Given the description of an element on the screen output the (x, y) to click on. 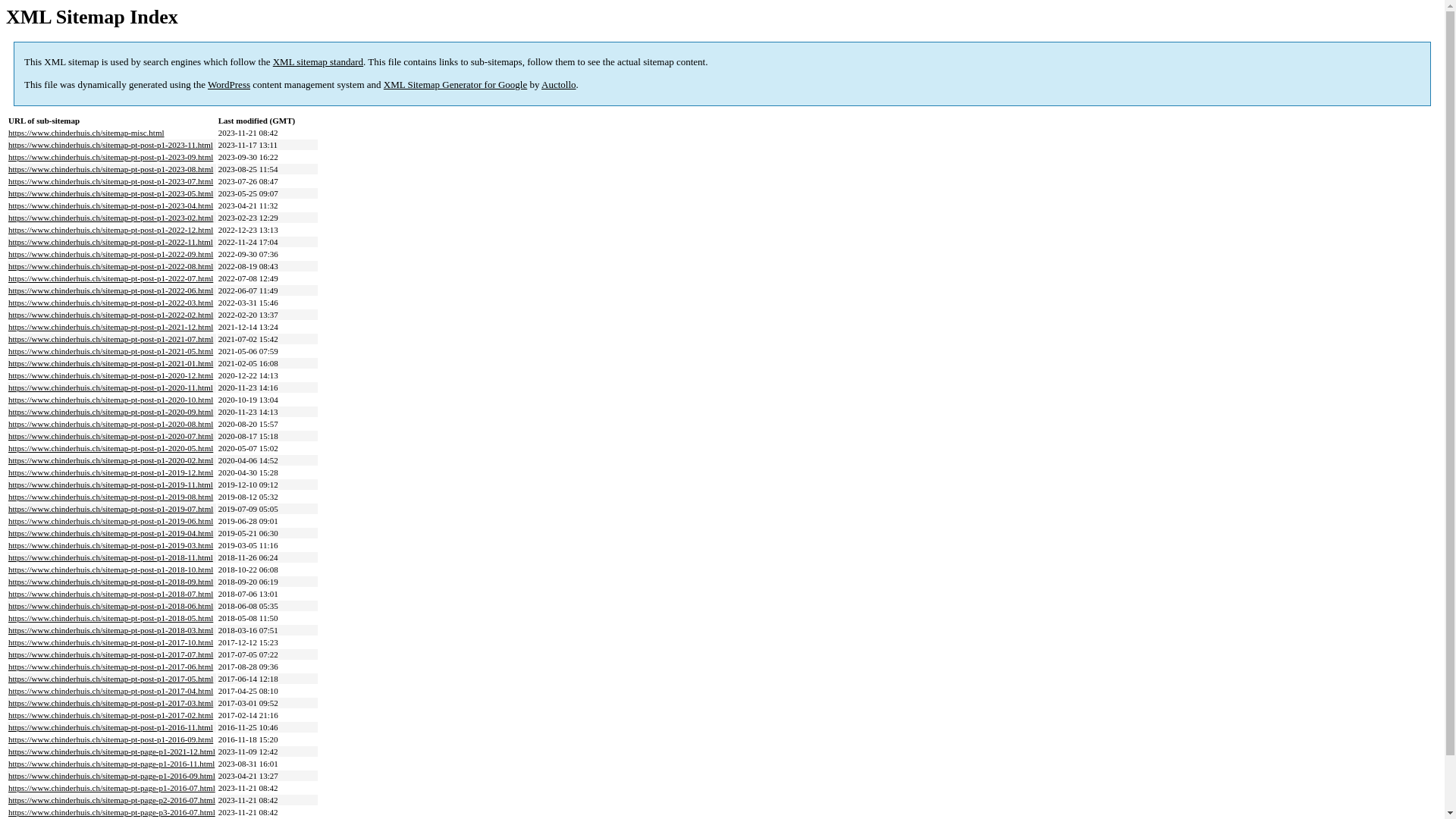
https://www.chinderhuis.ch/sitemap-pt-post-p1-2023-05.html Element type: text (110, 192)
https://www.chinderhuis.ch/sitemap-pt-post-p1-2019-07.html Element type: text (110, 508)
https://www.chinderhuis.ch/sitemap-pt-post-p1-2023-11.html Element type: text (110, 144)
https://www.chinderhuis.ch/sitemap-pt-post-p1-2018-05.html Element type: text (110, 617)
https://www.chinderhuis.ch/sitemap-pt-post-p1-2022-03.html Element type: text (110, 302)
https://www.chinderhuis.ch/sitemap-pt-post-p1-2018-07.html Element type: text (110, 593)
https://www.chinderhuis.ch/sitemap-pt-post-p1-2016-09.html Element type: text (110, 738)
https://www.chinderhuis.ch/sitemap-pt-post-p1-2020-10.html Element type: text (110, 399)
https://www.chinderhuis.ch/sitemap-pt-post-p1-2020-11.html Element type: text (110, 387)
https://www.chinderhuis.ch/sitemap-pt-post-p1-2021-12.html Element type: text (110, 326)
https://www.chinderhuis.ch/sitemap-pt-post-p1-2020-08.html Element type: text (110, 423)
https://www.chinderhuis.ch/sitemap-pt-post-p1-2022-06.html Element type: text (110, 289)
https://www.chinderhuis.ch/sitemap-pt-post-p1-2020-07.html Element type: text (110, 435)
https://www.chinderhuis.ch/sitemap-pt-post-p1-2020-12.html Element type: text (110, 374)
https://www.chinderhuis.ch/sitemap-pt-post-p1-2019-08.html Element type: text (110, 496)
https://www.chinderhuis.ch/sitemap-pt-post-p1-2017-06.html Element type: text (110, 666)
https://www.chinderhuis.ch/sitemap-pt-post-p1-2019-11.html Element type: text (110, 484)
https://www.chinderhuis.ch/sitemap-pt-post-p1-2023-02.html Element type: text (110, 217)
https://www.chinderhuis.ch/sitemap-pt-page-p2-2016-07.html Element type: text (111, 799)
https://www.chinderhuis.ch/sitemap-pt-post-p1-2020-05.html Element type: text (110, 447)
https://www.chinderhuis.ch/sitemap-pt-post-p1-2021-01.html Element type: text (110, 362)
https://www.chinderhuis.ch/sitemap-misc.html Element type: text (86, 132)
XML Sitemap Generator for Google Element type: text (455, 84)
https://www.chinderhuis.ch/sitemap-pt-post-p1-2022-12.html Element type: text (110, 229)
WordPress Element type: text (228, 84)
https://www.chinderhuis.ch/sitemap-pt-page-p1-2016-11.html Element type: text (111, 763)
https://www.chinderhuis.ch/sitemap-pt-page-p1-2016-09.html Element type: text (111, 775)
https://www.chinderhuis.ch/sitemap-pt-post-p1-2023-08.html Element type: text (110, 168)
https://www.chinderhuis.ch/sitemap-pt-post-p1-2017-04.html Element type: text (110, 690)
Auctollo Element type: text (558, 84)
https://www.chinderhuis.ch/sitemap-pt-post-p1-2020-02.html Element type: text (110, 459)
https://www.chinderhuis.ch/sitemap-pt-post-p1-2023-04.html Element type: text (110, 205)
https://www.chinderhuis.ch/sitemap-pt-page-p1-2021-12.html Element type: text (111, 751)
https://www.chinderhuis.ch/sitemap-pt-post-p1-2019-12.html Element type: text (110, 471)
https://www.chinderhuis.ch/sitemap-pt-post-p1-2017-02.html Element type: text (110, 714)
https://www.chinderhuis.ch/sitemap-pt-post-p1-2020-09.html Element type: text (110, 411)
https://www.chinderhuis.ch/sitemap-pt-post-p1-2016-11.html Element type: text (110, 726)
https://www.chinderhuis.ch/sitemap-pt-post-p1-2023-09.html Element type: text (110, 156)
https://www.chinderhuis.ch/sitemap-pt-post-p1-2023-07.html Element type: text (110, 180)
https://www.chinderhuis.ch/sitemap-pt-post-p1-2021-05.html Element type: text (110, 350)
https://www.chinderhuis.ch/sitemap-pt-post-p1-2022-02.html Element type: text (110, 314)
https://www.chinderhuis.ch/sitemap-pt-post-p1-2017-05.html Element type: text (110, 678)
https://www.chinderhuis.ch/sitemap-pt-post-p1-2022-09.html Element type: text (110, 253)
https://www.chinderhuis.ch/sitemap-pt-post-p1-2022-11.html Element type: text (110, 241)
https://www.chinderhuis.ch/sitemap-pt-post-p1-2018-09.html Element type: text (110, 581)
https://www.chinderhuis.ch/sitemap-pt-post-p1-2018-06.html Element type: text (110, 605)
https://www.chinderhuis.ch/sitemap-pt-post-p1-2017-07.html Element type: text (110, 653)
https://www.chinderhuis.ch/sitemap-pt-post-p1-2018-11.html Element type: text (110, 556)
https://www.chinderhuis.ch/sitemap-pt-post-p1-2017-03.html Element type: text (110, 702)
https://www.chinderhuis.ch/sitemap-pt-post-p1-2019-04.html Element type: text (110, 532)
https://www.chinderhuis.ch/sitemap-pt-post-p1-2019-06.html Element type: text (110, 520)
https://www.chinderhuis.ch/sitemap-pt-post-p1-2019-03.html Element type: text (110, 544)
https://www.chinderhuis.ch/sitemap-pt-post-p1-2022-08.html Element type: text (110, 265)
https://www.chinderhuis.ch/sitemap-pt-post-p1-2021-07.html Element type: text (110, 338)
https://www.chinderhuis.ch/sitemap-pt-post-p1-2018-03.html Element type: text (110, 629)
https://www.chinderhuis.ch/sitemap-pt-page-p1-2016-07.html Element type: text (111, 787)
https://www.chinderhuis.ch/sitemap-pt-post-p1-2017-10.html Element type: text (110, 641)
https://www.chinderhuis.ch/sitemap-pt-page-p3-2016-07.html Element type: text (111, 811)
XML sitemap standard Element type: text (318, 61)
https://www.chinderhuis.ch/sitemap-pt-post-p1-2022-07.html Element type: text (110, 277)
https://www.chinderhuis.ch/sitemap-pt-post-p1-2018-10.html Element type: text (110, 569)
